Given the description of an element on the screen output the (x, y) to click on. 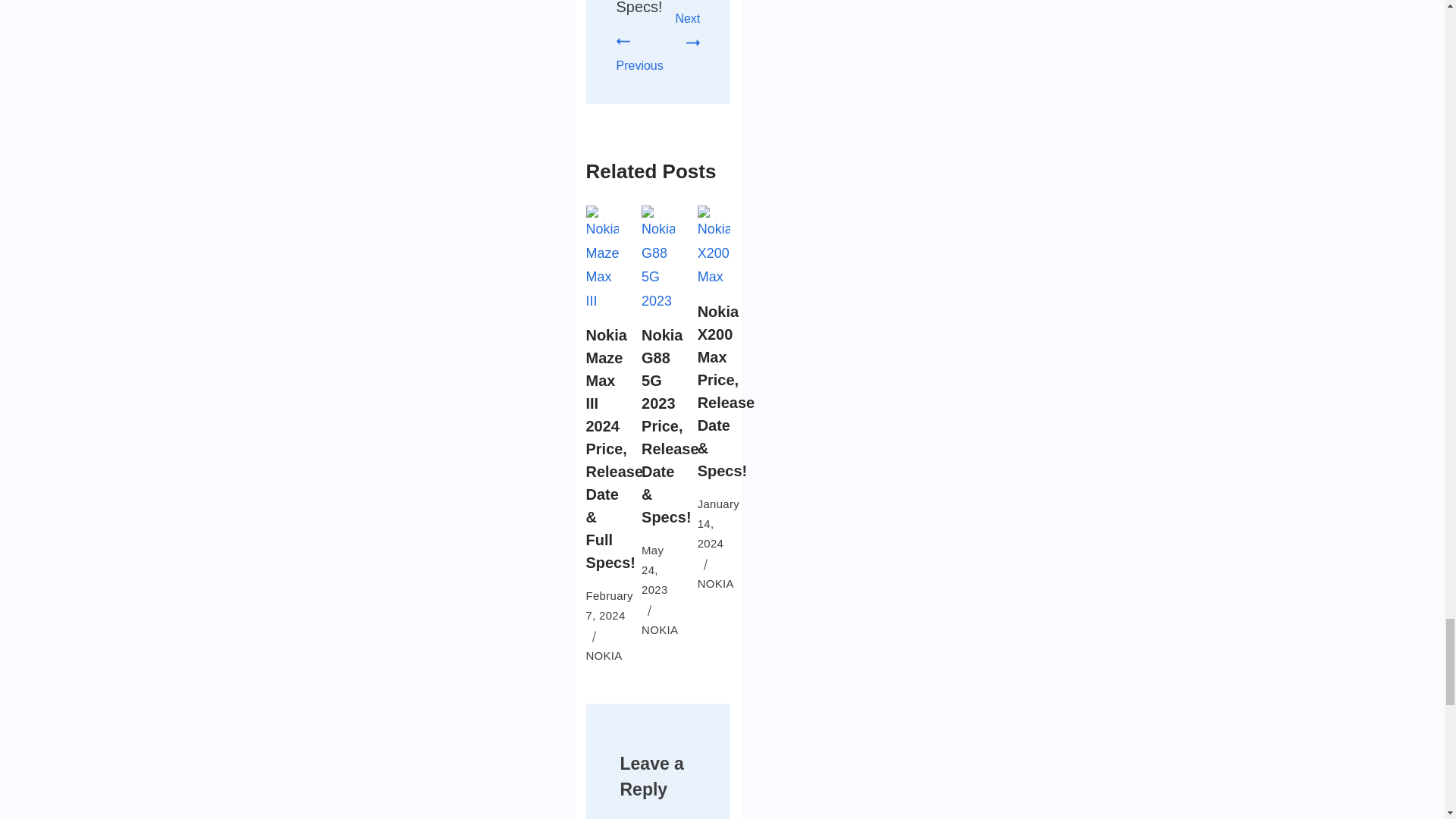
Previous (638, 53)
